Given the description of an element on the screen output the (x, y) to click on. 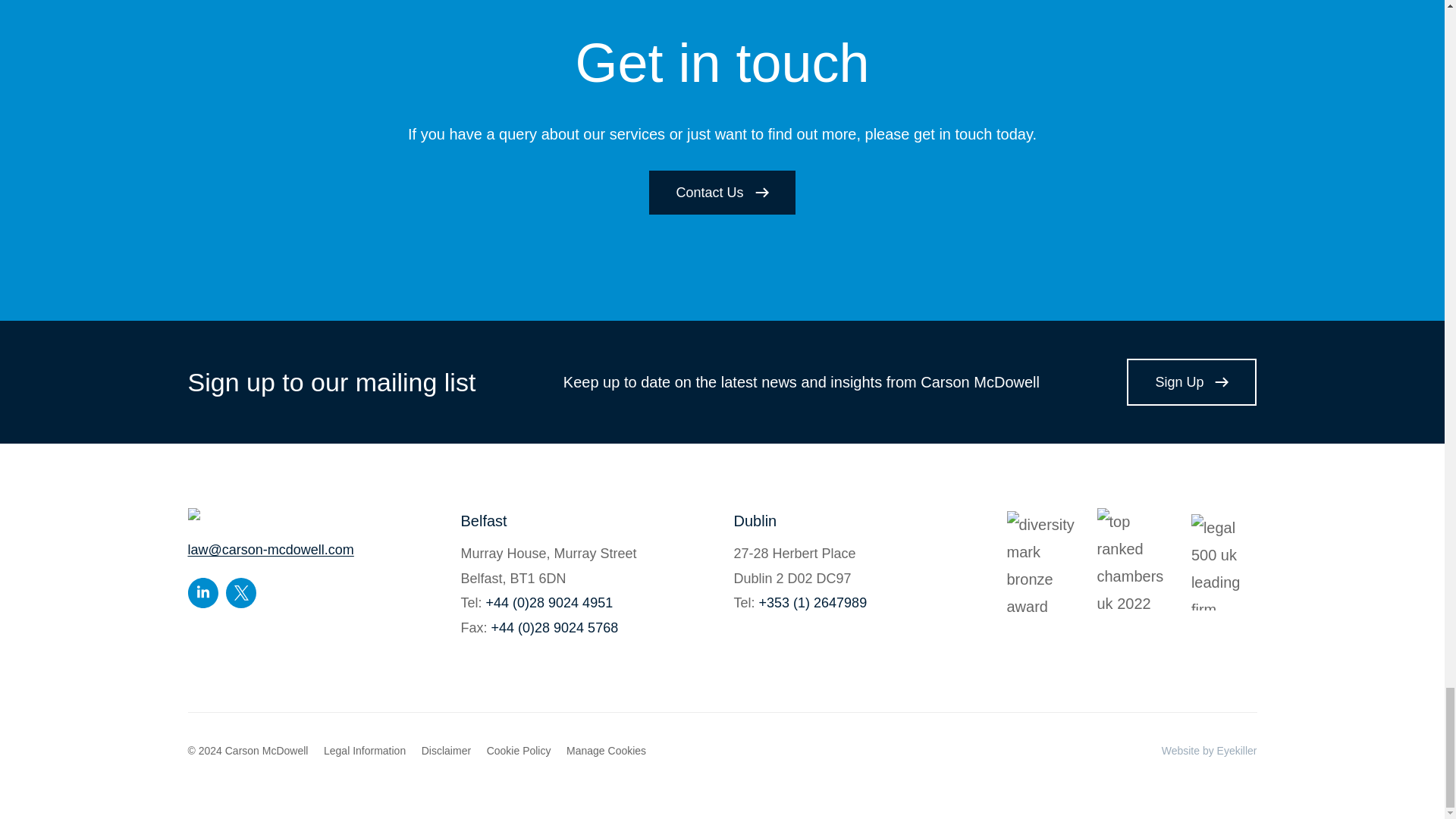
Sign Up (1191, 381)
Contact Us (721, 192)
